Given the description of an element on the screen output the (x, y) to click on. 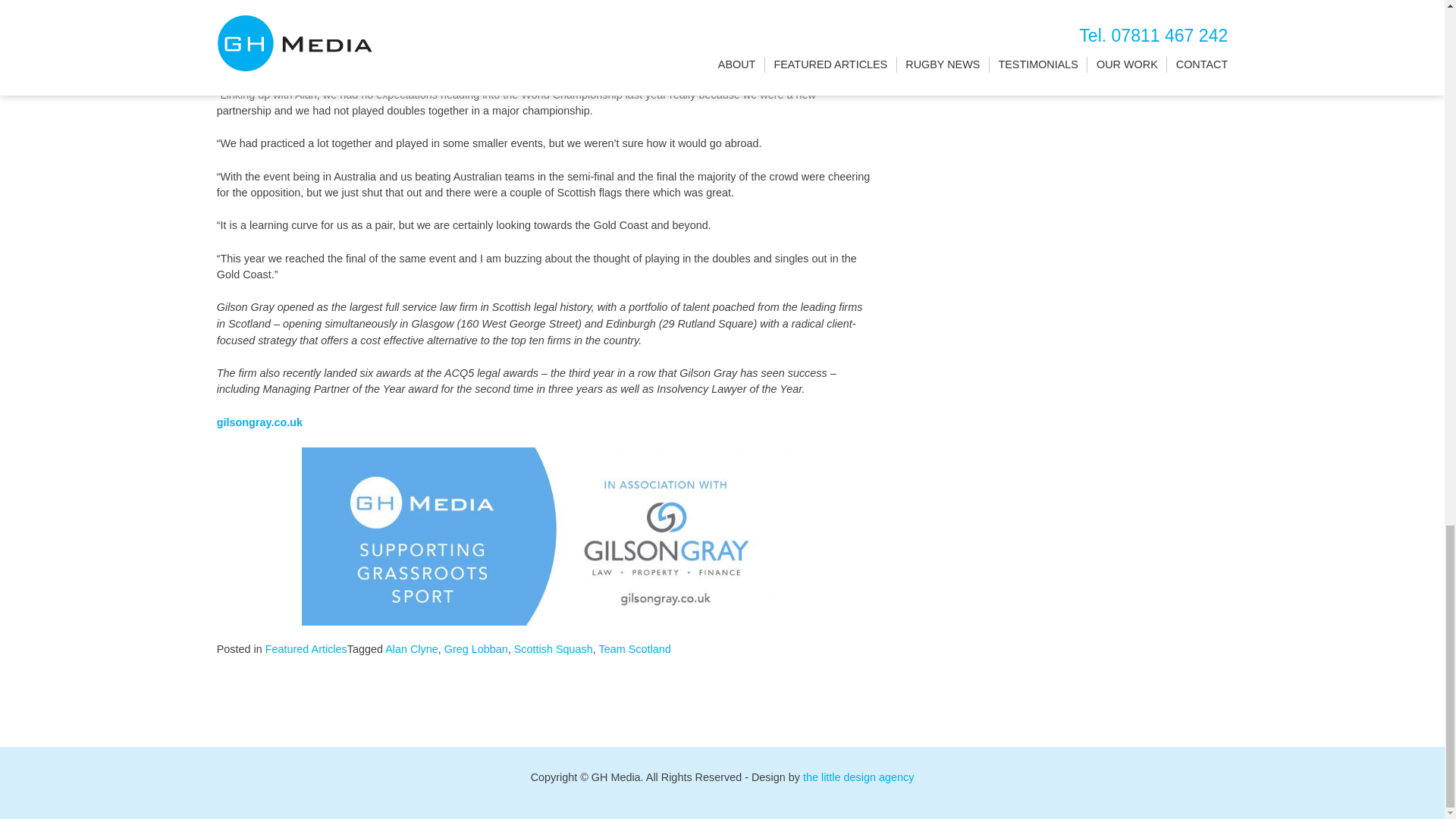
Featured Articles (305, 648)
Alan Clyne (411, 648)
the little design agency (858, 776)
gilsongray.co.uk (259, 422)
Greg Lobban (476, 648)
Team Scotland (634, 648)
Scottish Squash (552, 648)
